Given the description of an element on the screen output the (x, y) to click on. 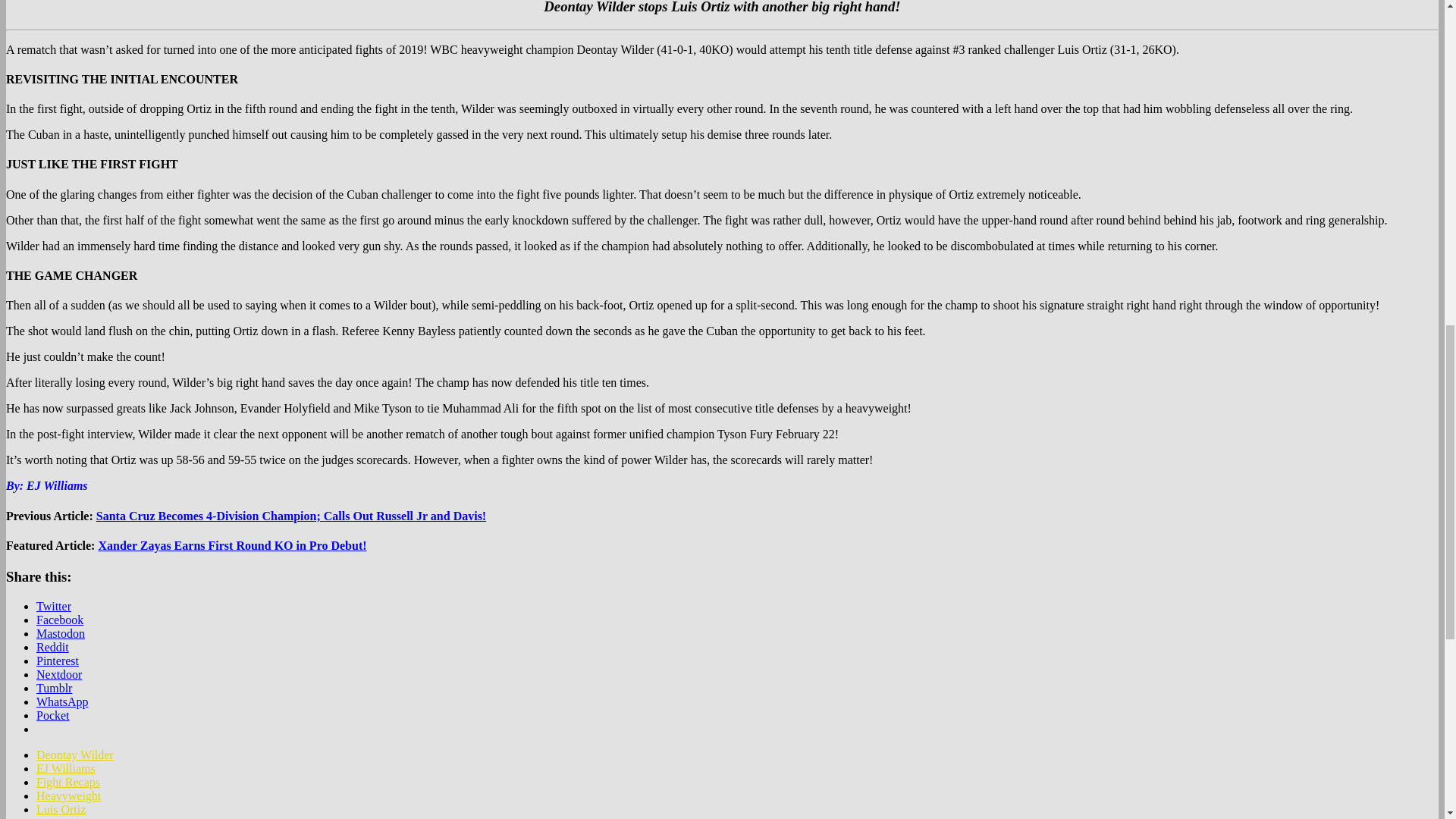
Mastodon (60, 633)
Xander Zayas Earns First Round KO in Pro Debut! (231, 545)
Twitter (53, 605)
Facebook (59, 619)
